Given the description of an element on the screen output the (x, y) to click on. 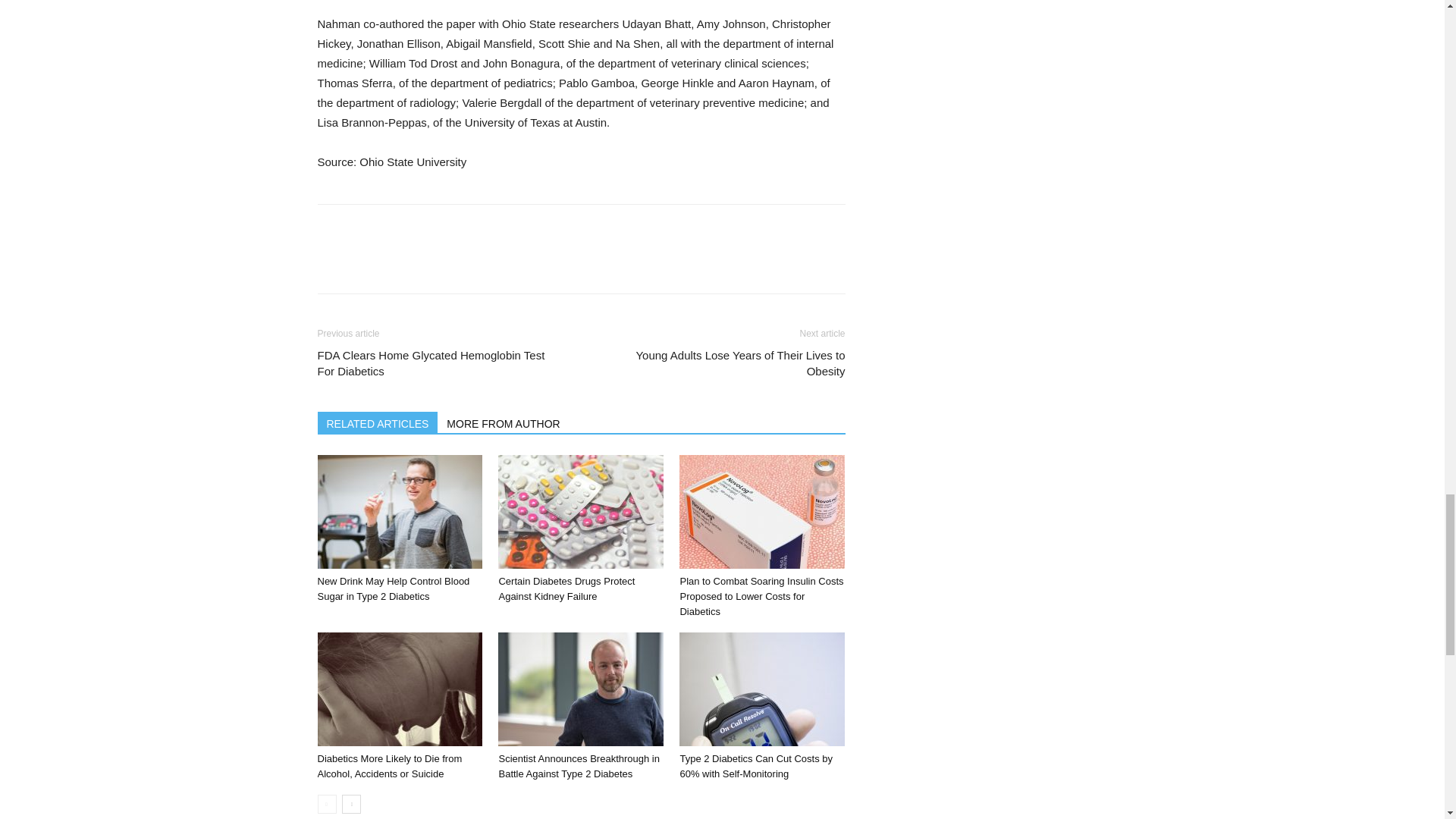
Certain Diabetes Drugs Protect Against Kidney Failure (565, 588)
Certain Diabetes Drugs Protect Against Kidney Failure (580, 511)
New Drink May Help Control Blood Sugar in Type 2 Diabetics (399, 511)
New Drink May Help Control Blood Sugar in Type 2 Diabetics (392, 588)
